Given the description of an element on the screen output the (x, y) to click on. 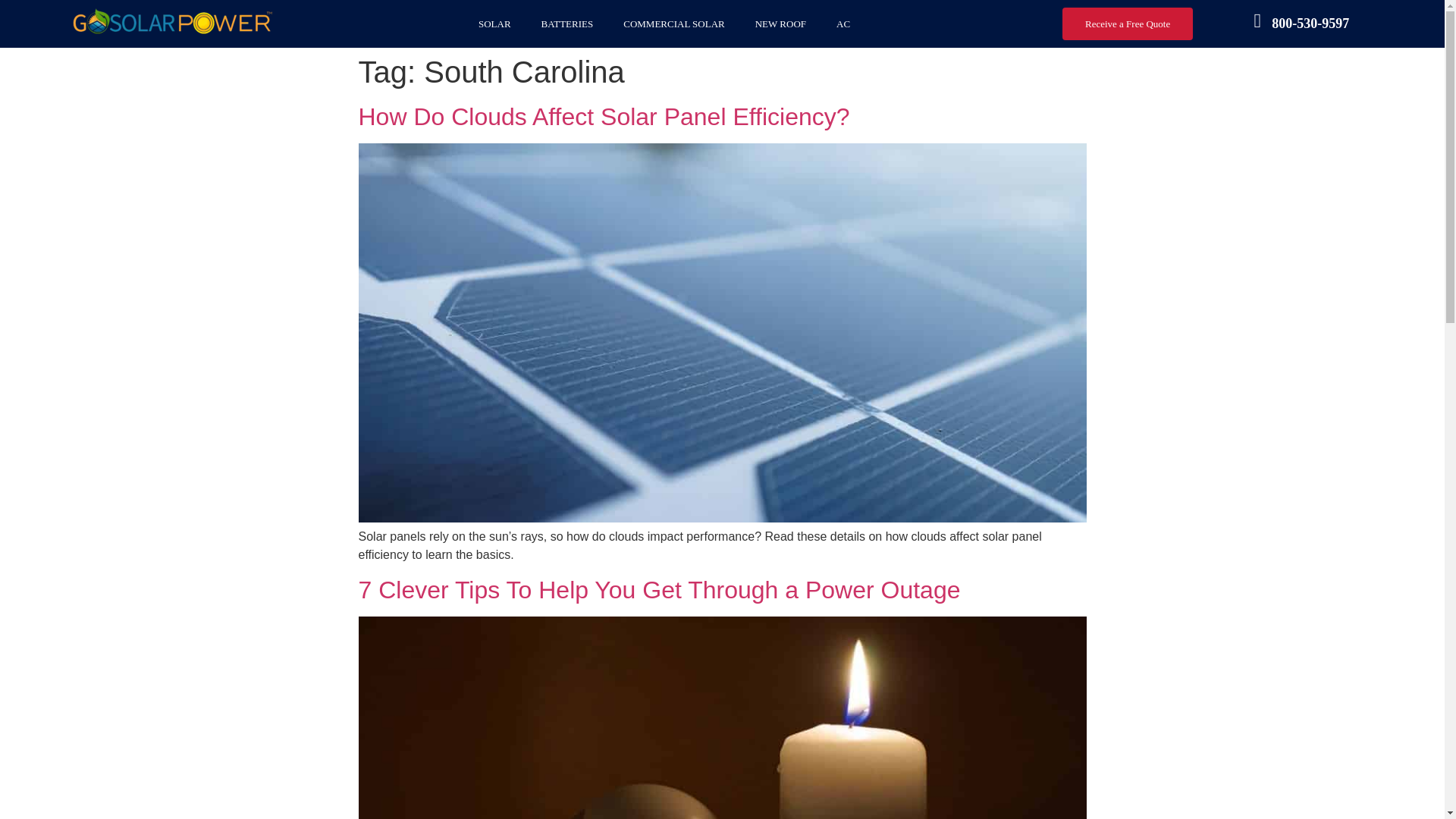
AC (842, 24)
NEW ROOF (780, 24)
SOLAR (494, 24)
COMMERCIAL SOLAR (673, 24)
BATTERIES (566, 24)
800-530-9597 (1310, 23)
Receive a Free Quote (1127, 23)
